Given the description of an element on the screen output the (x, y) to click on. 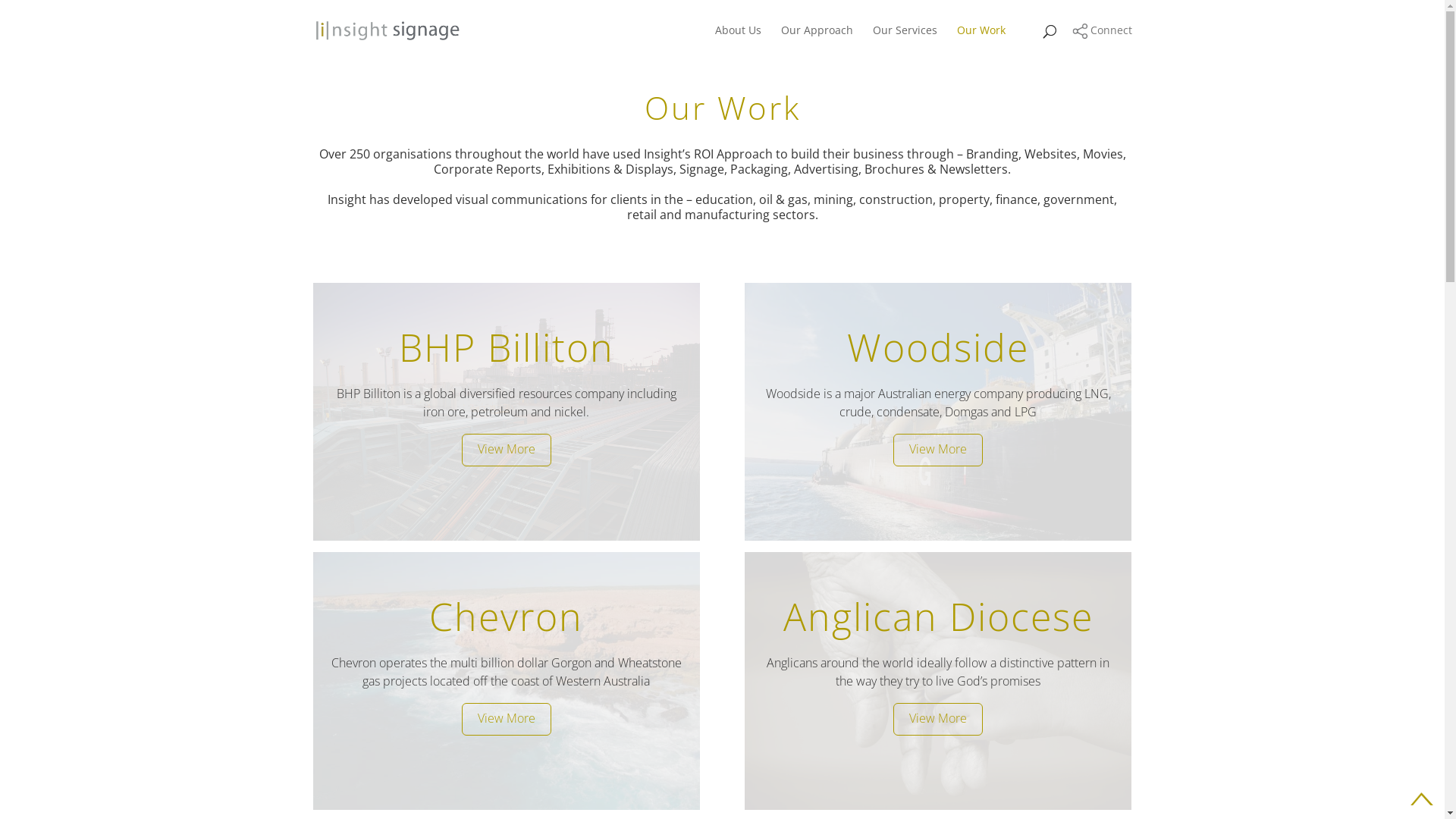
Our Services Element type: text (904, 42)
Go to top of page Element type: hover (1421, 798)
Our Work Element type: text (981, 42)
Connect Element type: text (1102, 29)
Our Approach Element type: text (817, 42)
About Us Element type: text (737, 42)
